Given the description of an element on the screen output the (x, y) to click on. 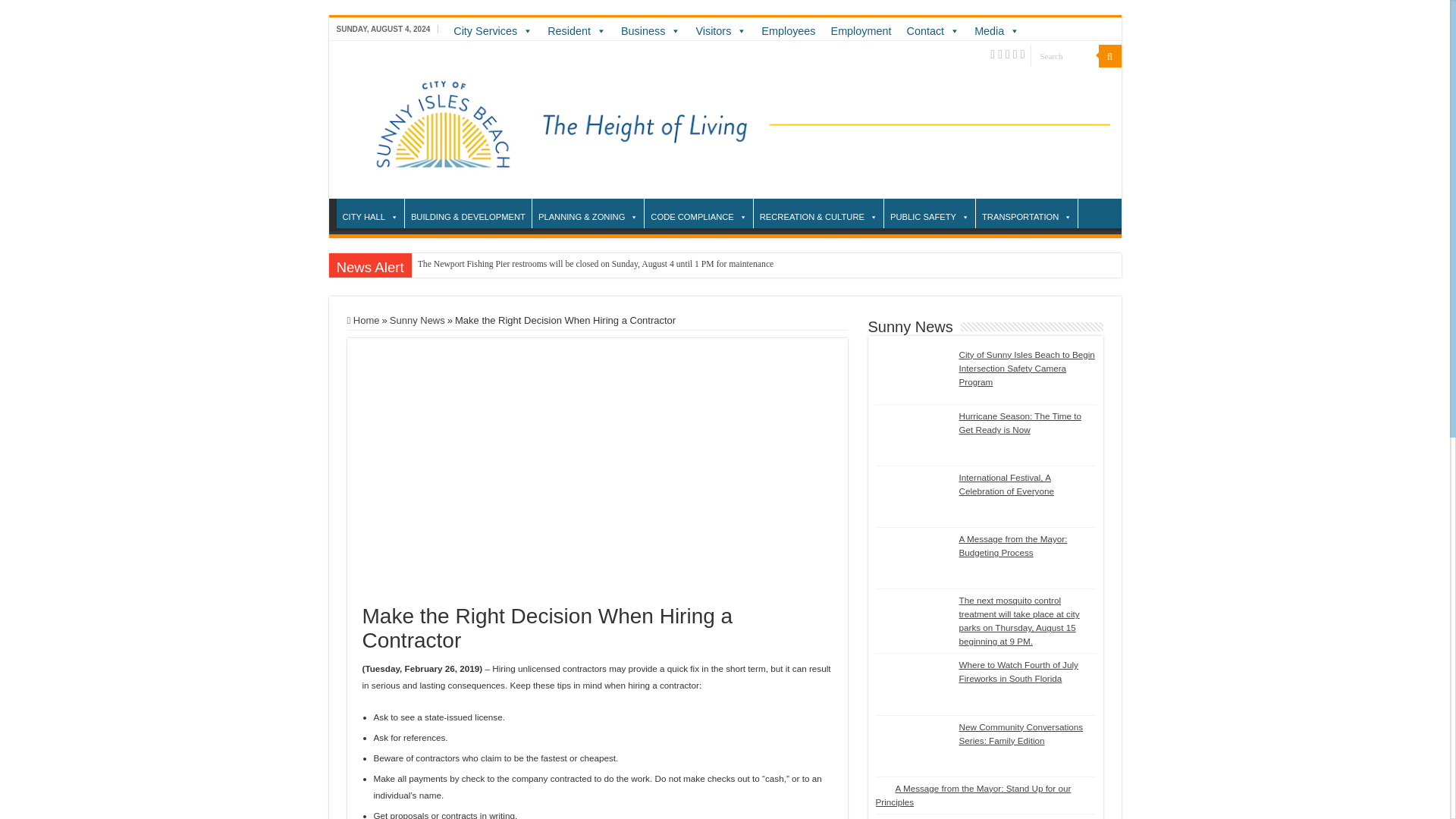
Search (1063, 55)
Search (1063, 55)
City of Sunny Isles Beach (724, 118)
City Services (492, 31)
Resident (576, 31)
Search (1063, 55)
